Given the description of an element on the screen output the (x, y) to click on. 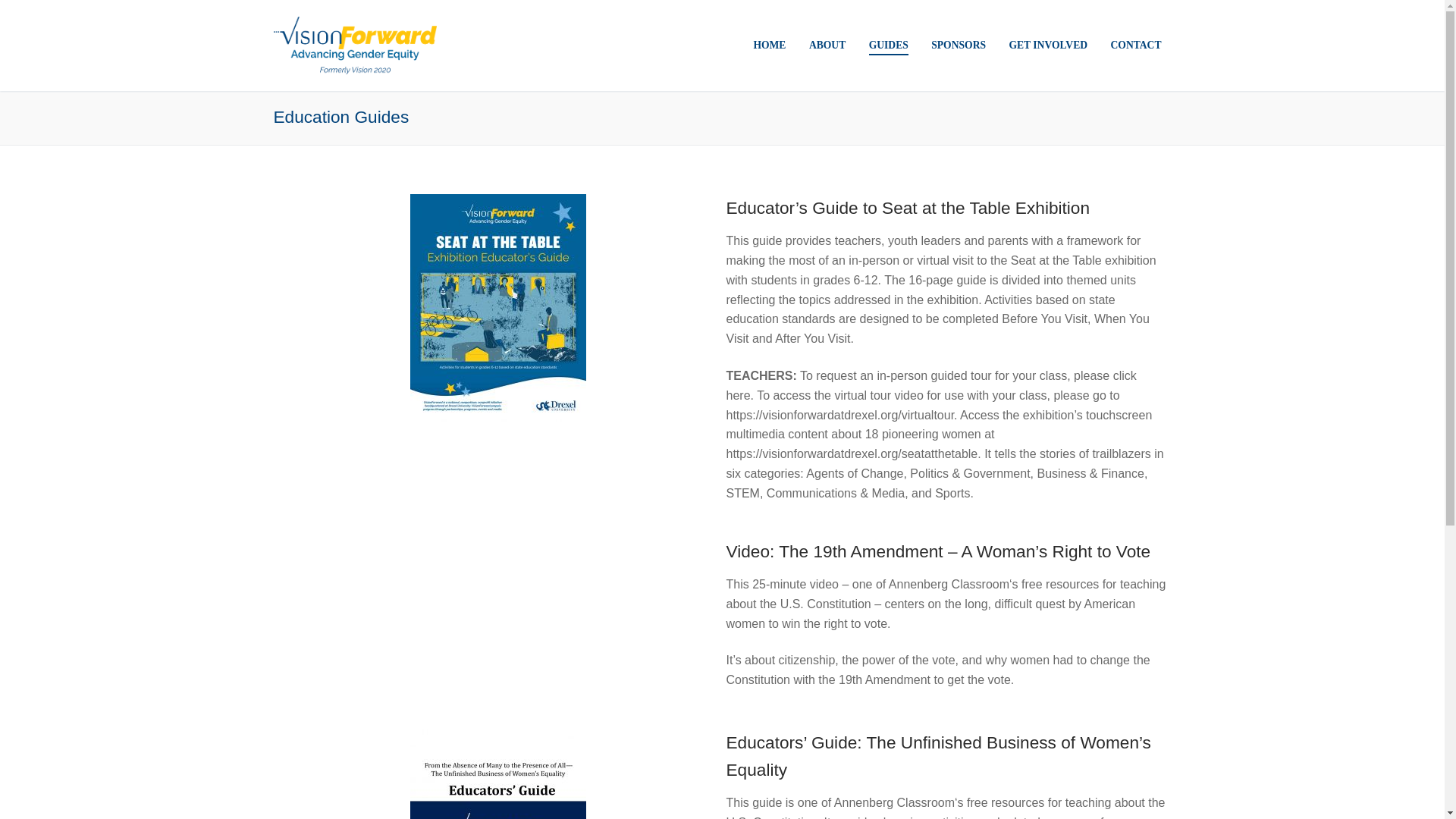
ABOUT (827, 45)
GET INVOLVED (1047, 45)
SPONSORS (958, 45)
GUIDES (888, 45)
CONTACT (1136, 45)
HOME (768, 45)
